Given the description of an element on the screen output the (x, y) to click on. 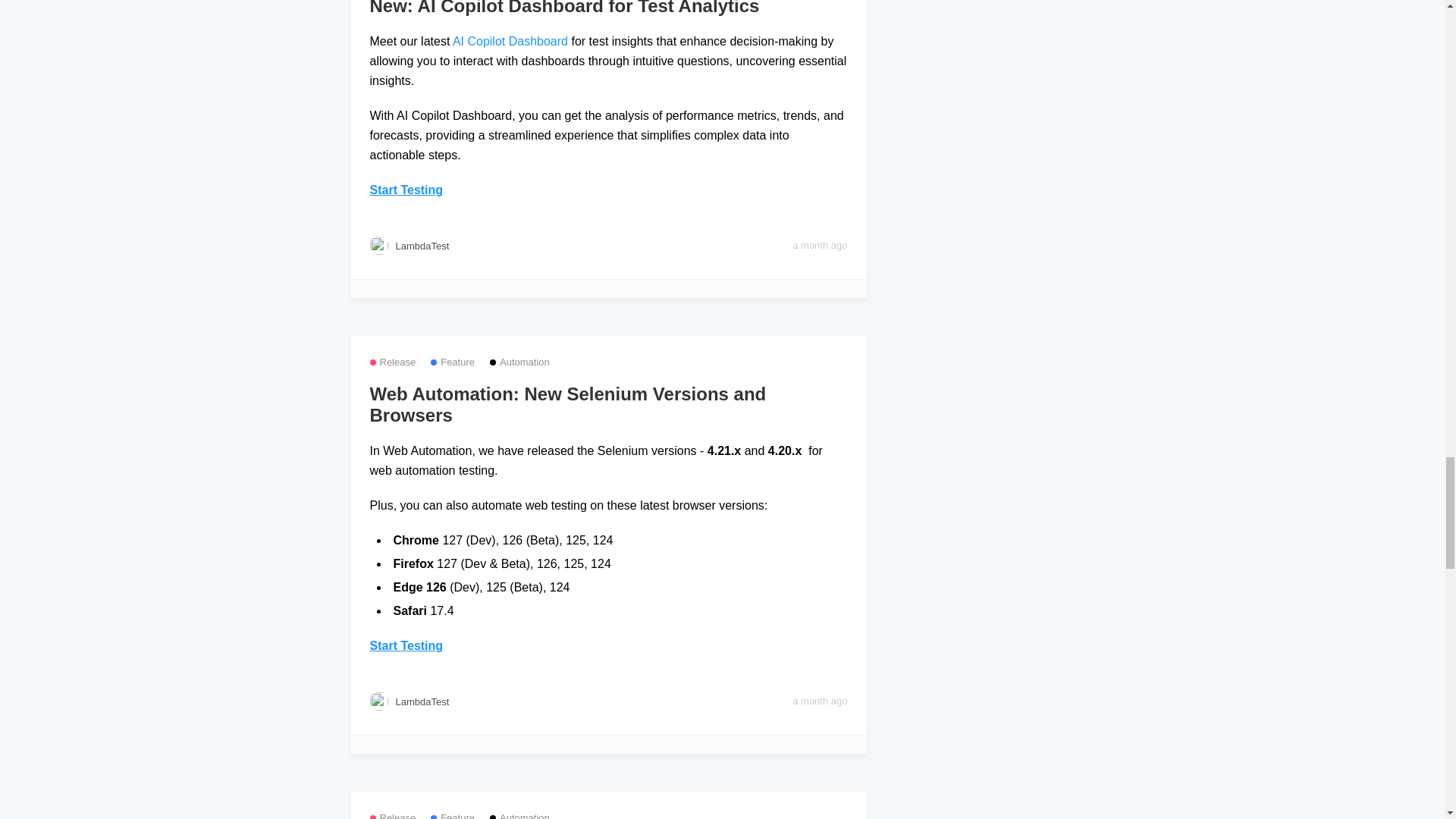
Start Testing (406, 645)
Start Testing (406, 189)
a month ago (819, 701)
New: AI Copilot Dashboard for Test Analytics (608, 8)
a month ago (819, 245)
Web Automation: New Selenium Versions and Browsers (608, 404)
AI Copilot Dashboard (509, 41)
